Given the description of an element on the screen output the (x, y) to click on. 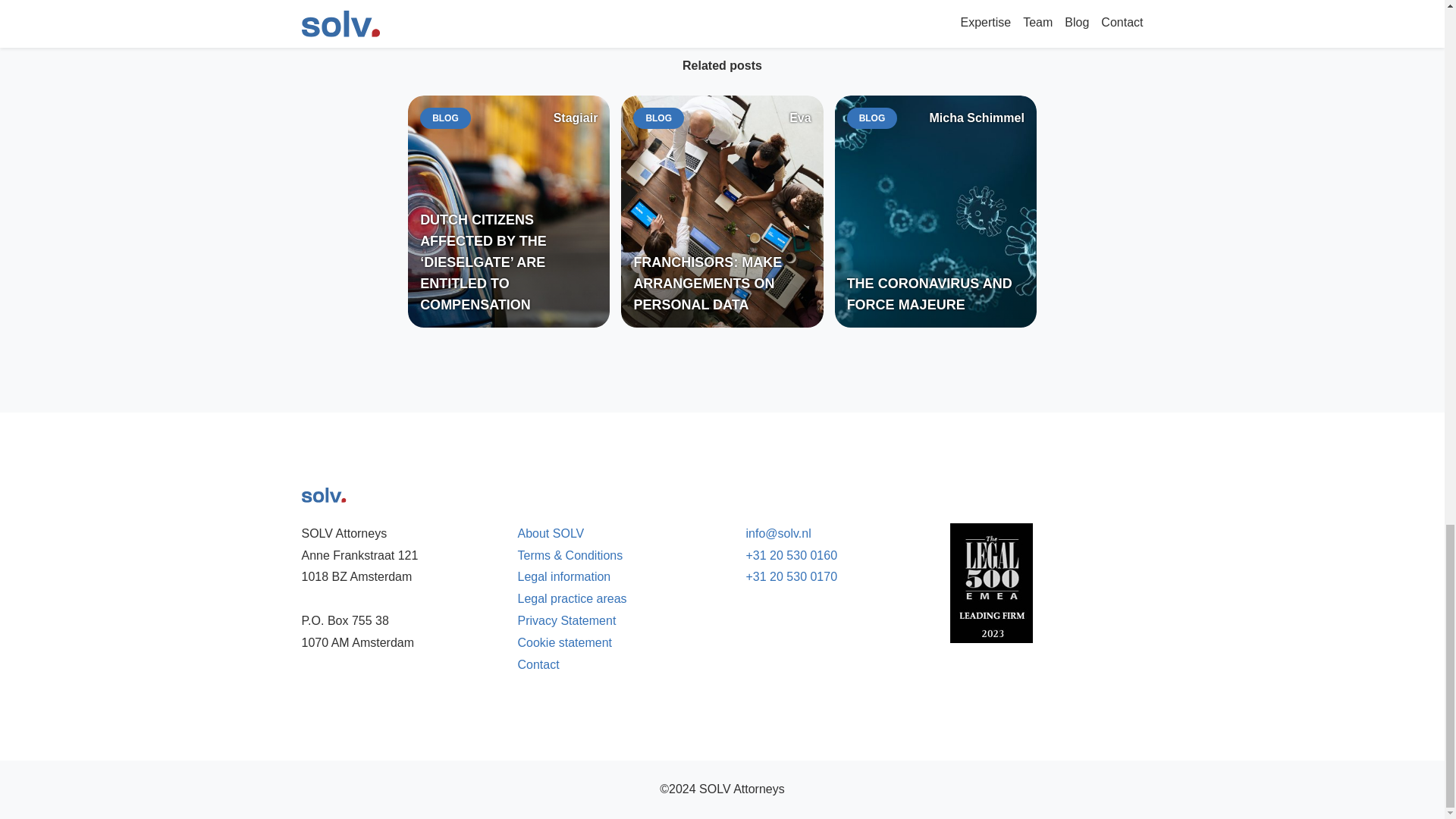
Contact (537, 664)
About SOLV (549, 533)
Legal practice areas (571, 598)
Cookie statement (563, 642)
Legal information (563, 576)
Privacy Statement (565, 620)
